Given the description of an element on the screen output the (x, y) to click on. 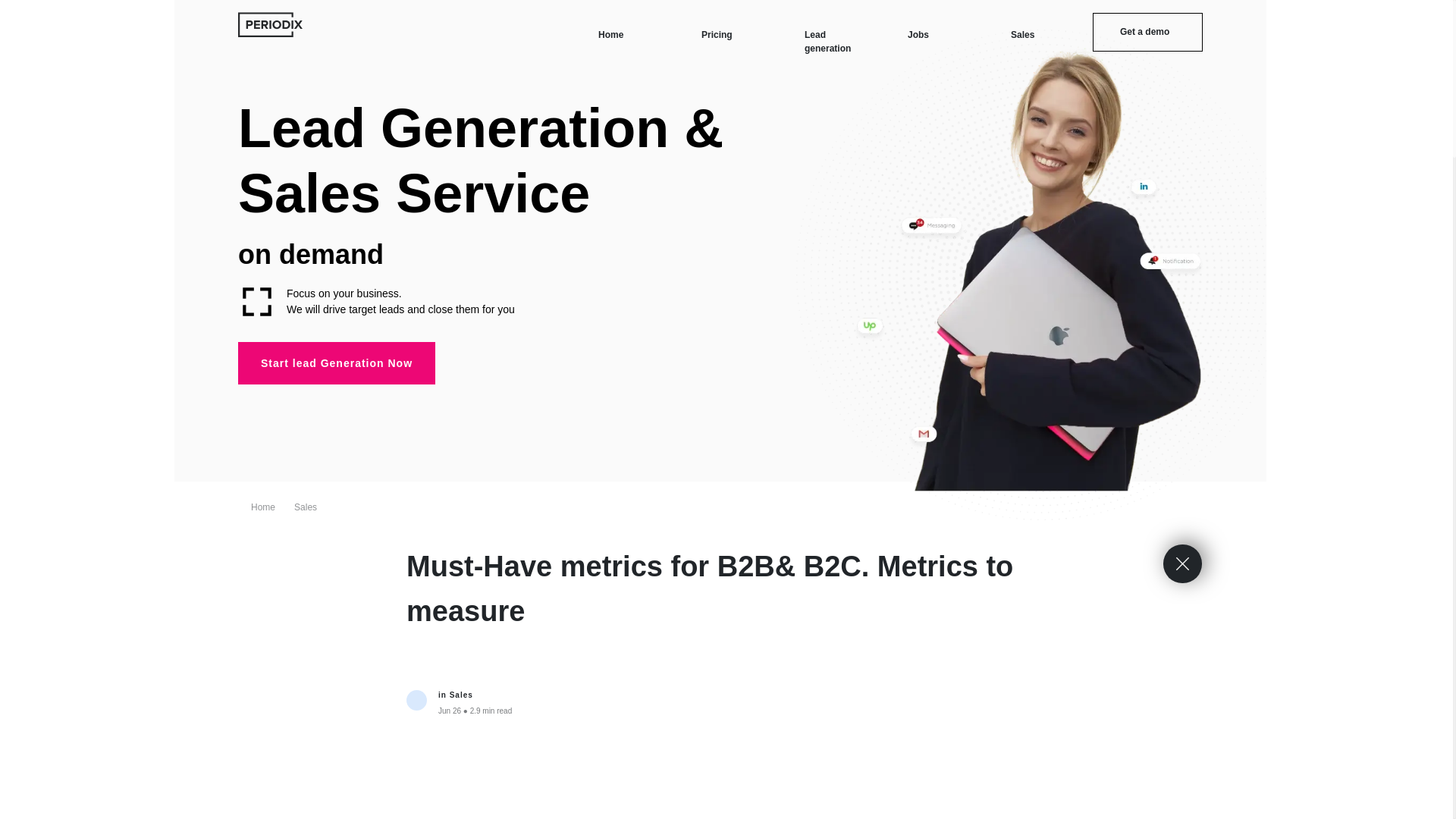
Start lead Generation Now (336, 363)
Home (262, 507)
Sales (1021, 33)
Lead generation (827, 40)
Jobs (917, 33)
Pricing (716, 33)
Get a demo (1147, 31)
Sales (461, 694)
Home (610, 33)
Sales (305, 507)
